Given the description of an element on the screen output the (x, y) to click on. 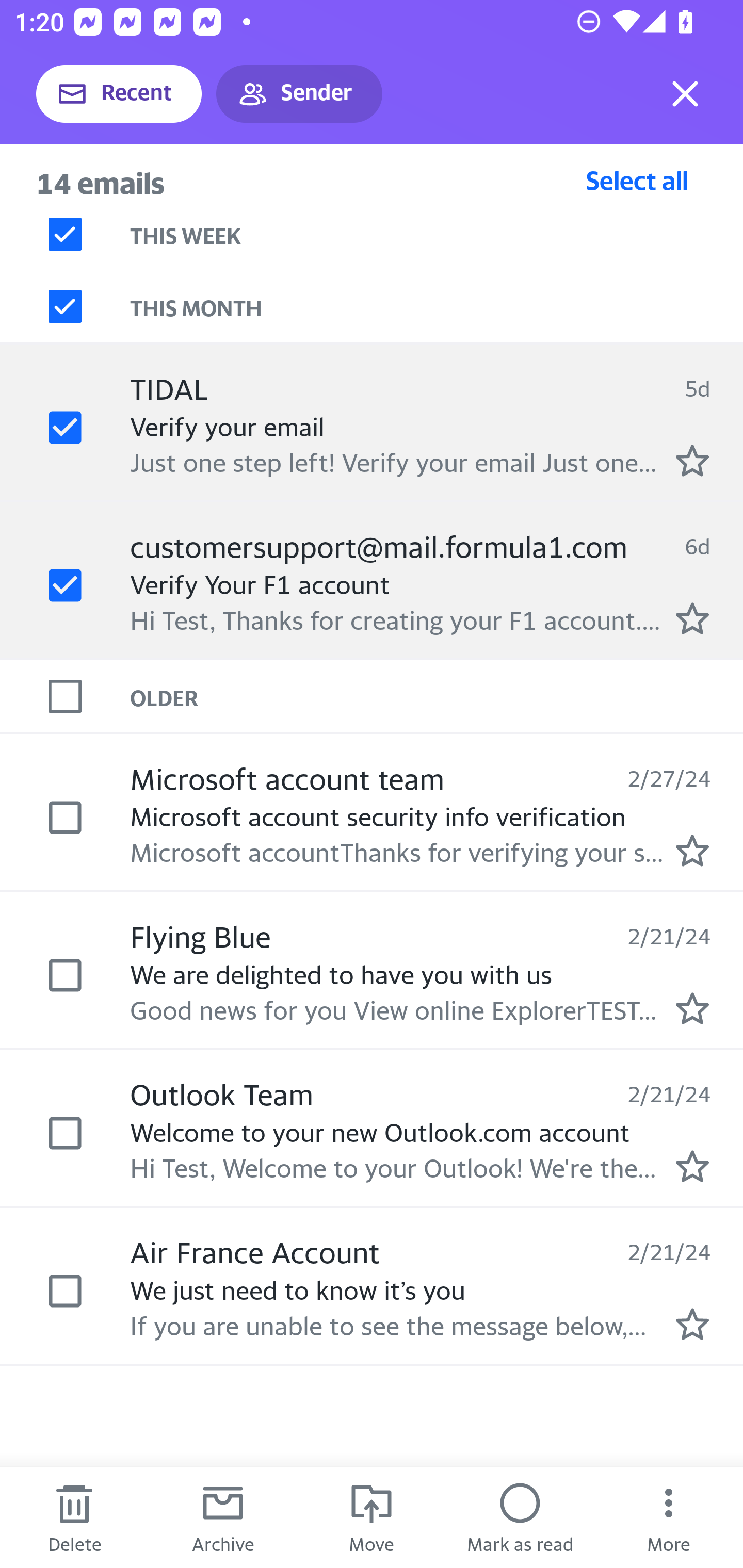
Sender (299, 93)
Exit selection mode (684, 93)
Select all (637, 180)
THIS MONTH (436, 306)
Mark as starred. (692, 460)
Mark as starred. (692, 618)
OLDER (436, 696)
Mark as starred. (692, 850)
Mark as starred. (692, 1008)
Mark as starred. (692, 1165)
Mark as starred. (692, 1324)
Delete (74, 1517)
Archive (222, 1517)
Move (371, 1517)
Mark as read (519, 1517)
More (668, 1517)
